Given the description of an element on the screen output the (x, y) to click on. 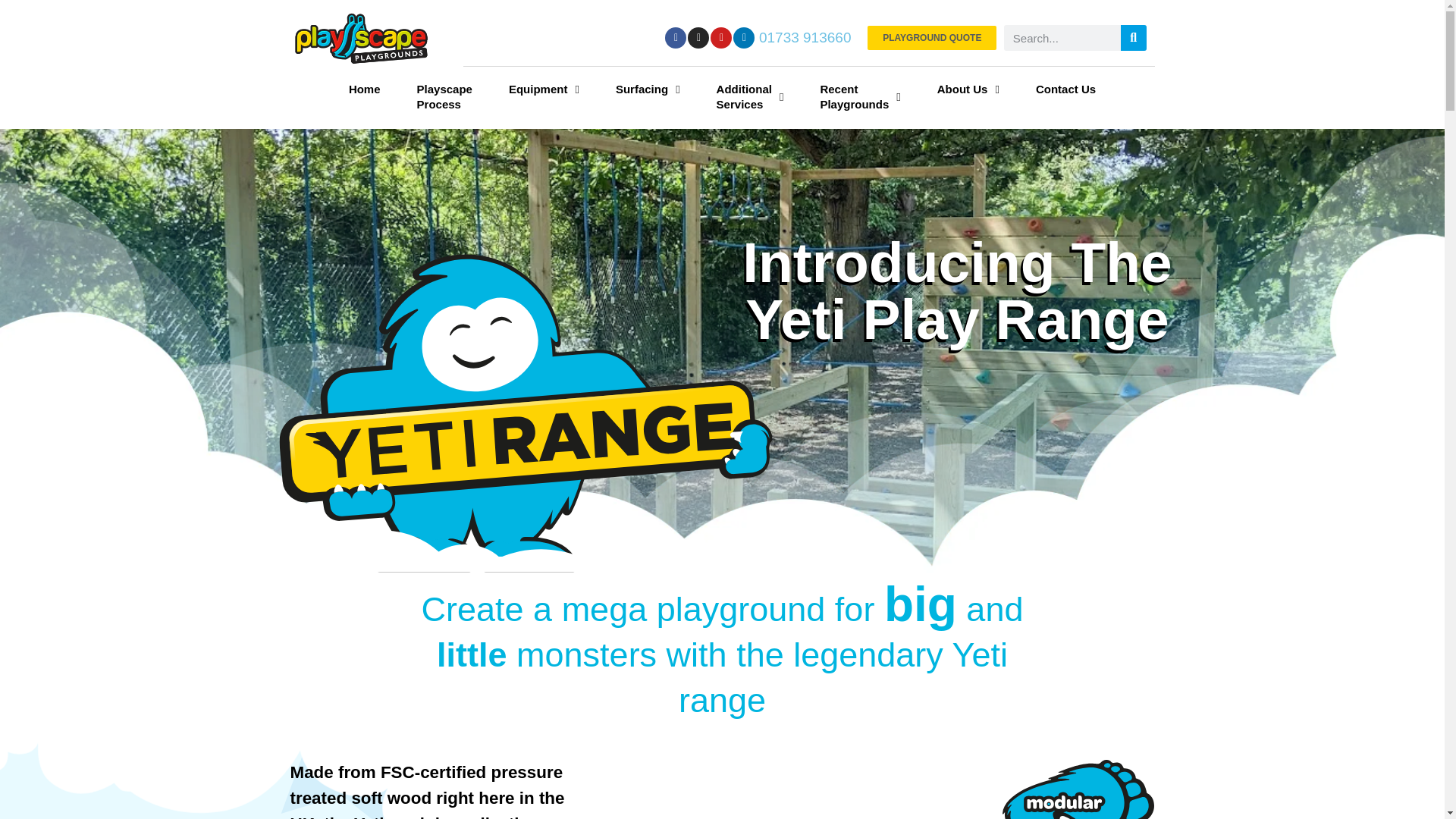
Equipment (543, 89)
PLAYGROUND QUOTE (931, 37)
01733 913660 (804, 37)
Home (444, 96)
